Given the description of an element on the screen output the (x, y) to click on. 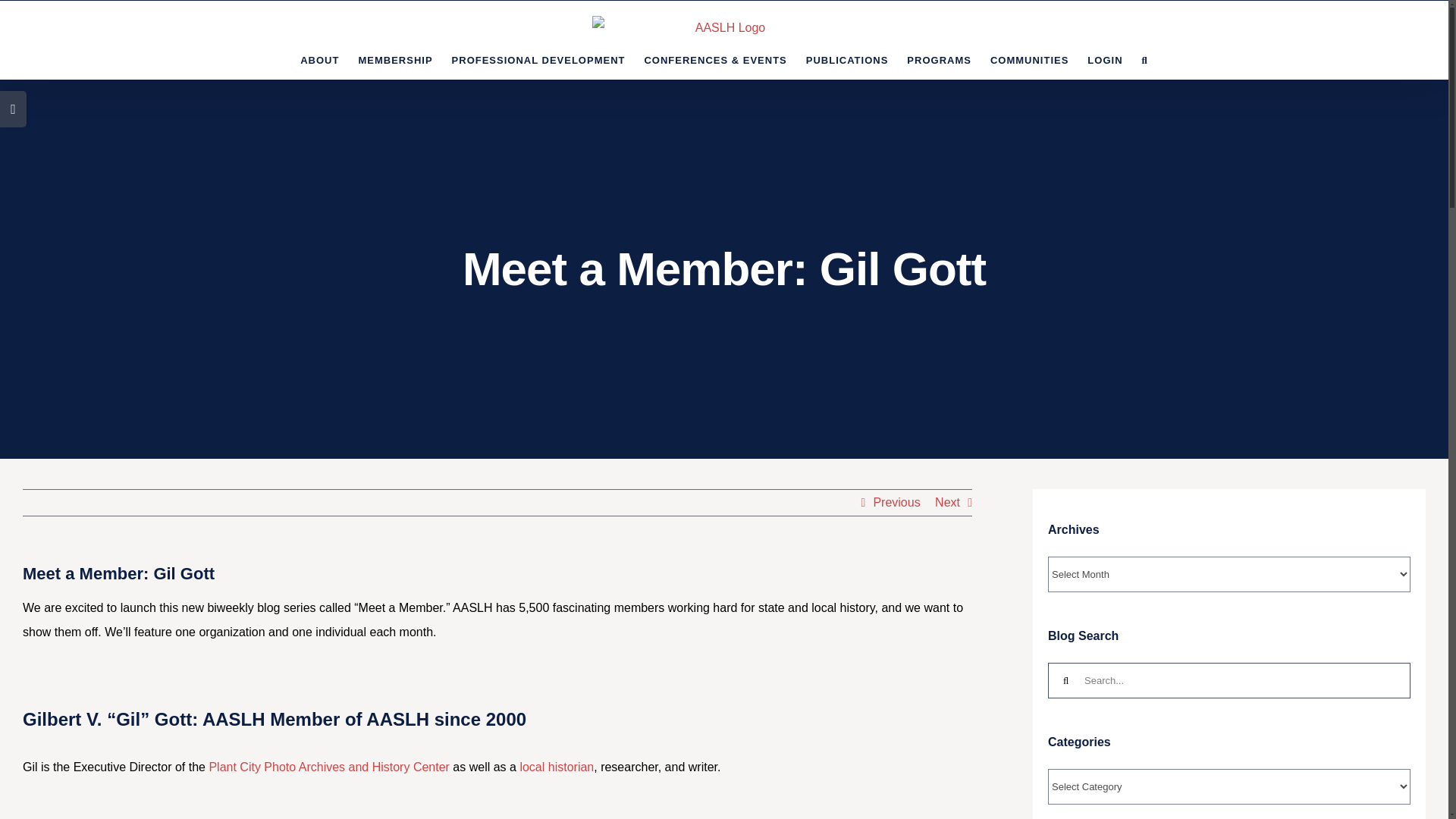
PROFESSIONAL DEVELOPMENT (538, 59)
ABOUT (319, 59)
MEMBERSHIP (395, 59)
Search (1144, 59)
PUBLICATIONS (847, 59)
